Given the description of an element on the screen output the (x, y) to click on. 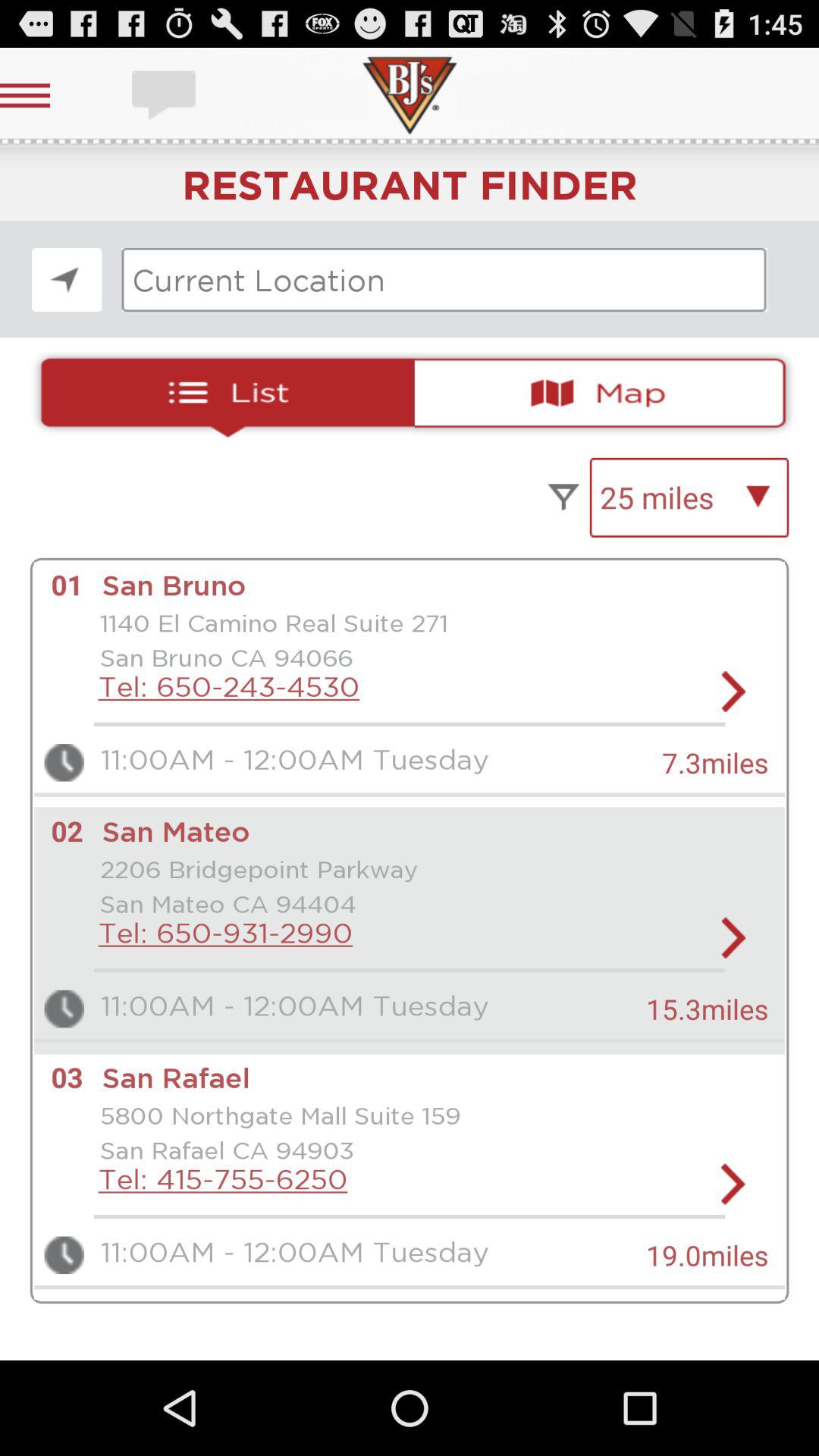
lookup restaurants (444, 279)
